Given the description of an element on the screen output the (x, y) to click on. 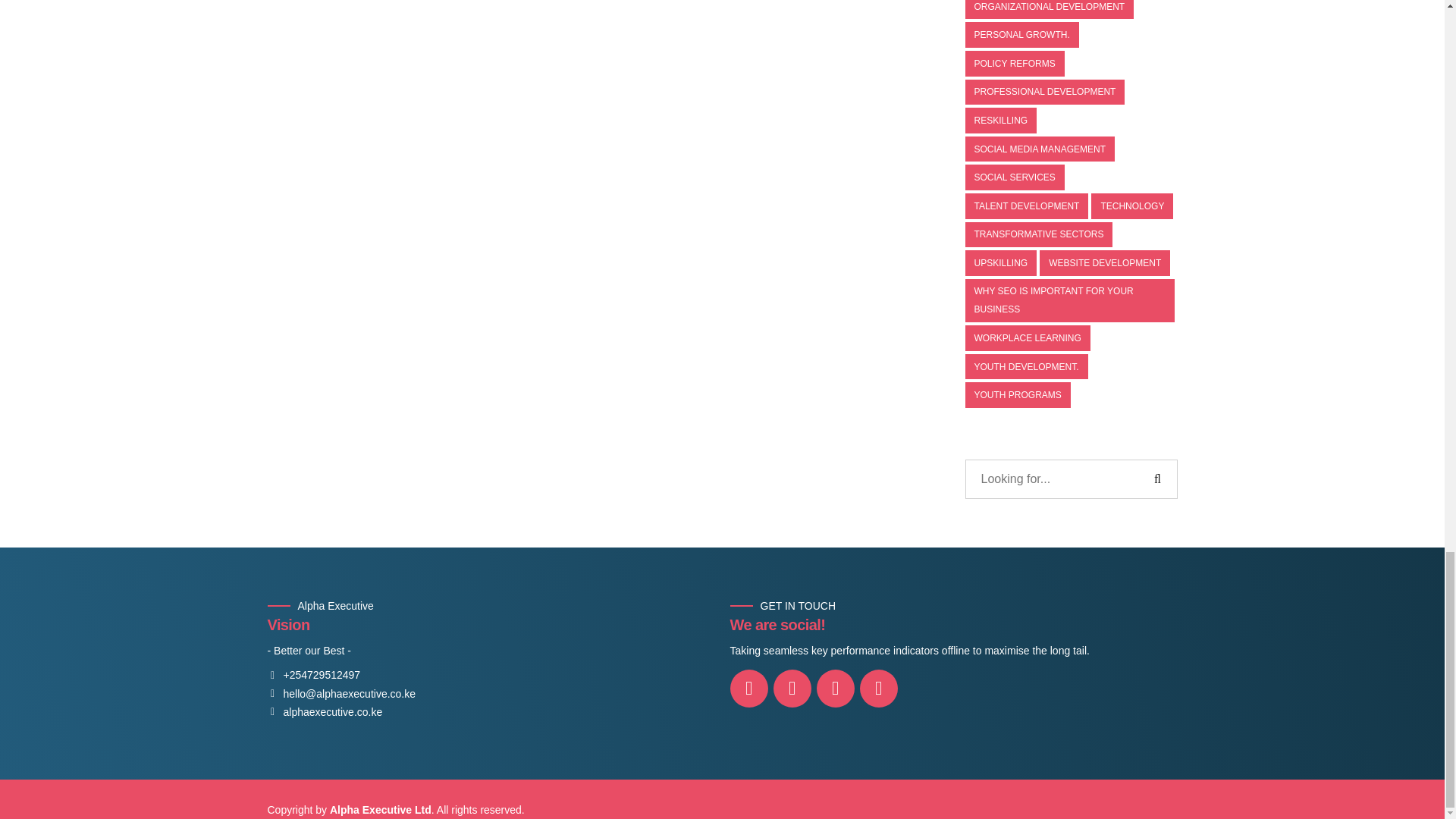
alphaexecutive.co.ke (323, 712)
